Given the description of an element on the screen output the (x, y) to click on. 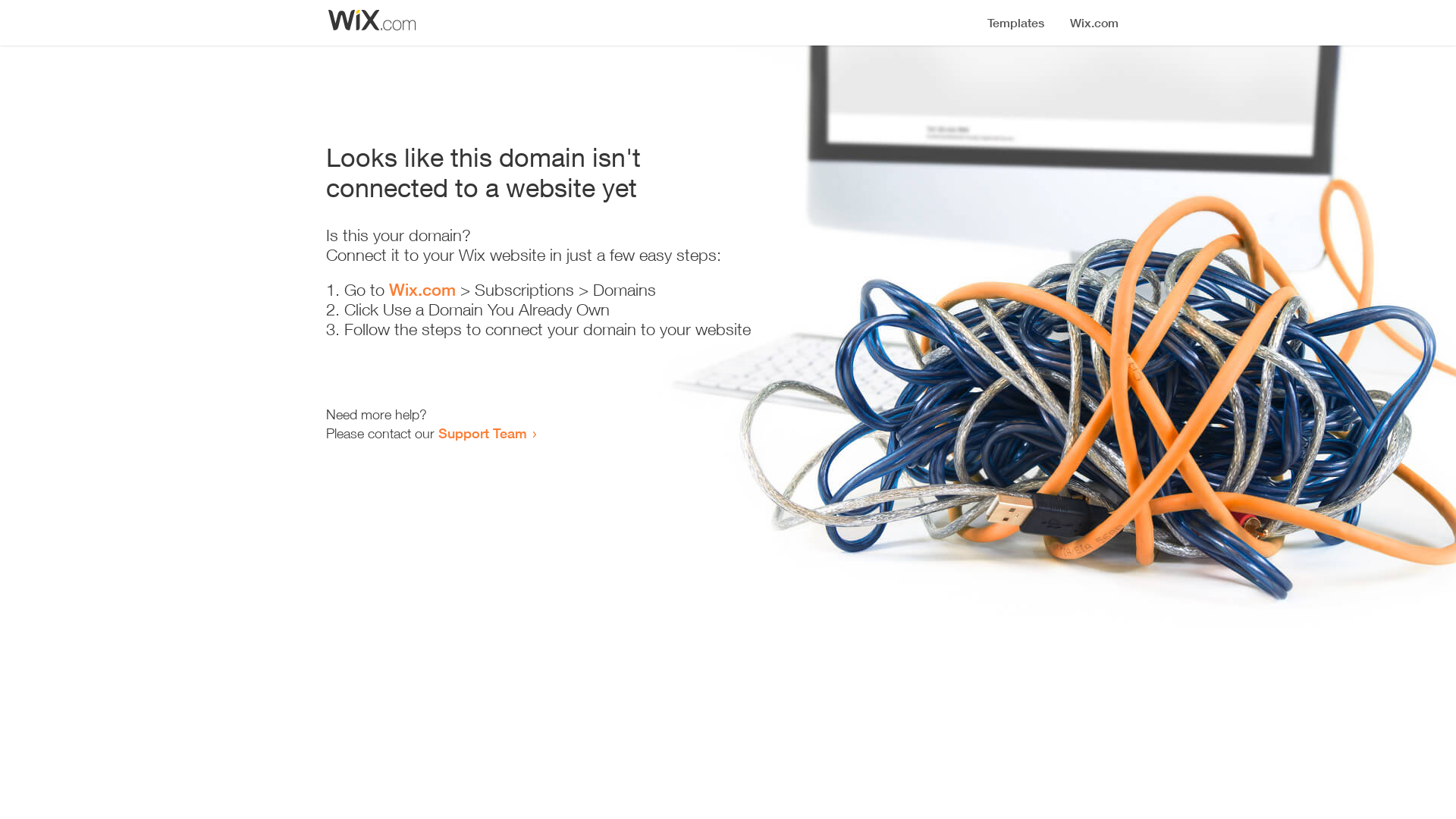
Wix.com Element type: text (422, 289)
Support Team Element type: text (482, 432)
